Given the description of an element on the screen output the (x, y) to click on. 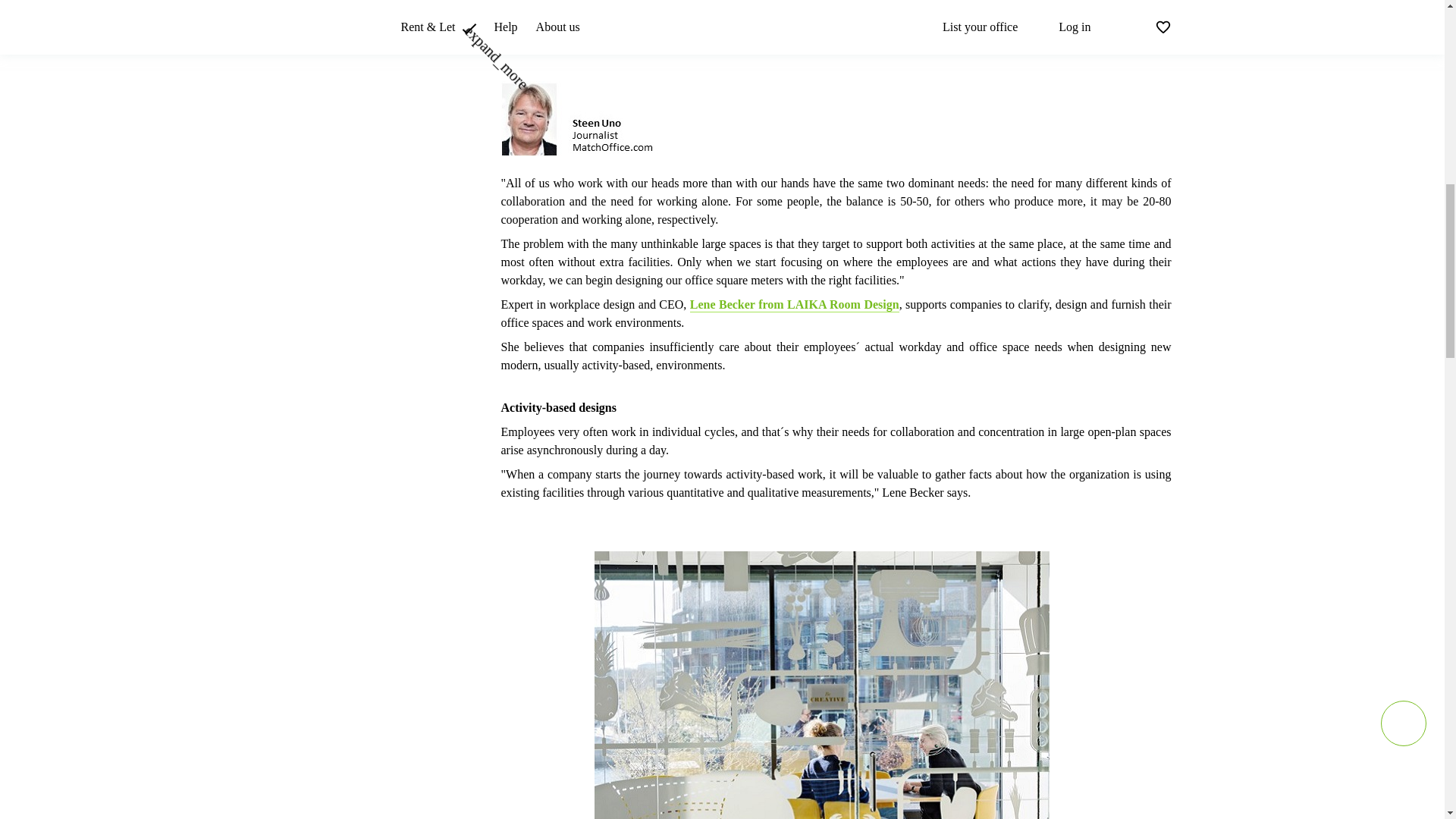
Lene Becker from LAIKA Room Design (794, 305)
